Given the description of an element on the screen output the (x, y) to click on. 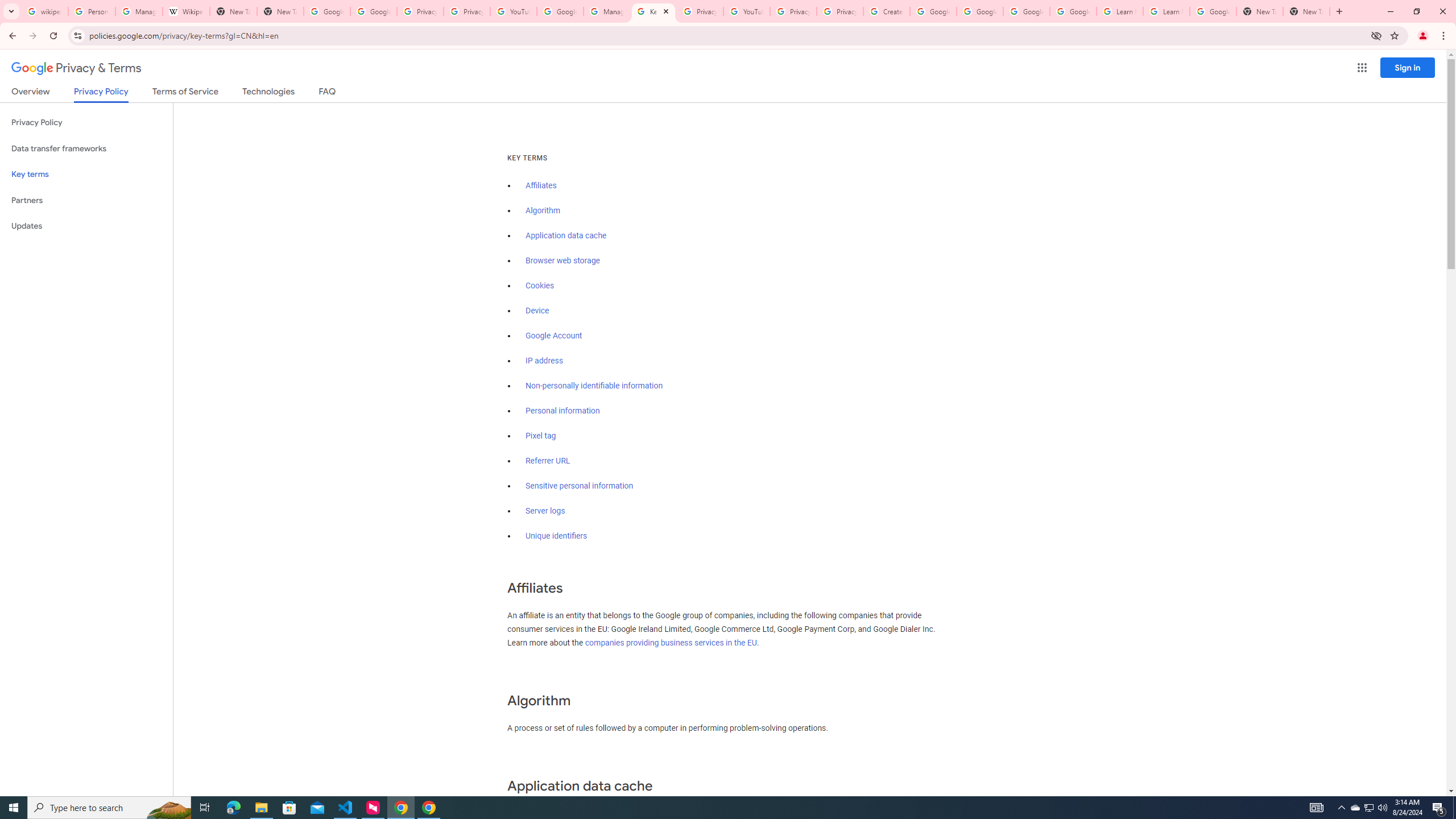
Sensitive personal information (579, 486)
Personalization & Google Search results - Google Search Help (91, 11)
YouTube (745, 11)
Non-personally identifiable information (593, 385)
Google Account (553, 335)
Google Account Help (1073, 11)
